Given the description of an element on the screen output the (x, y) to click on. 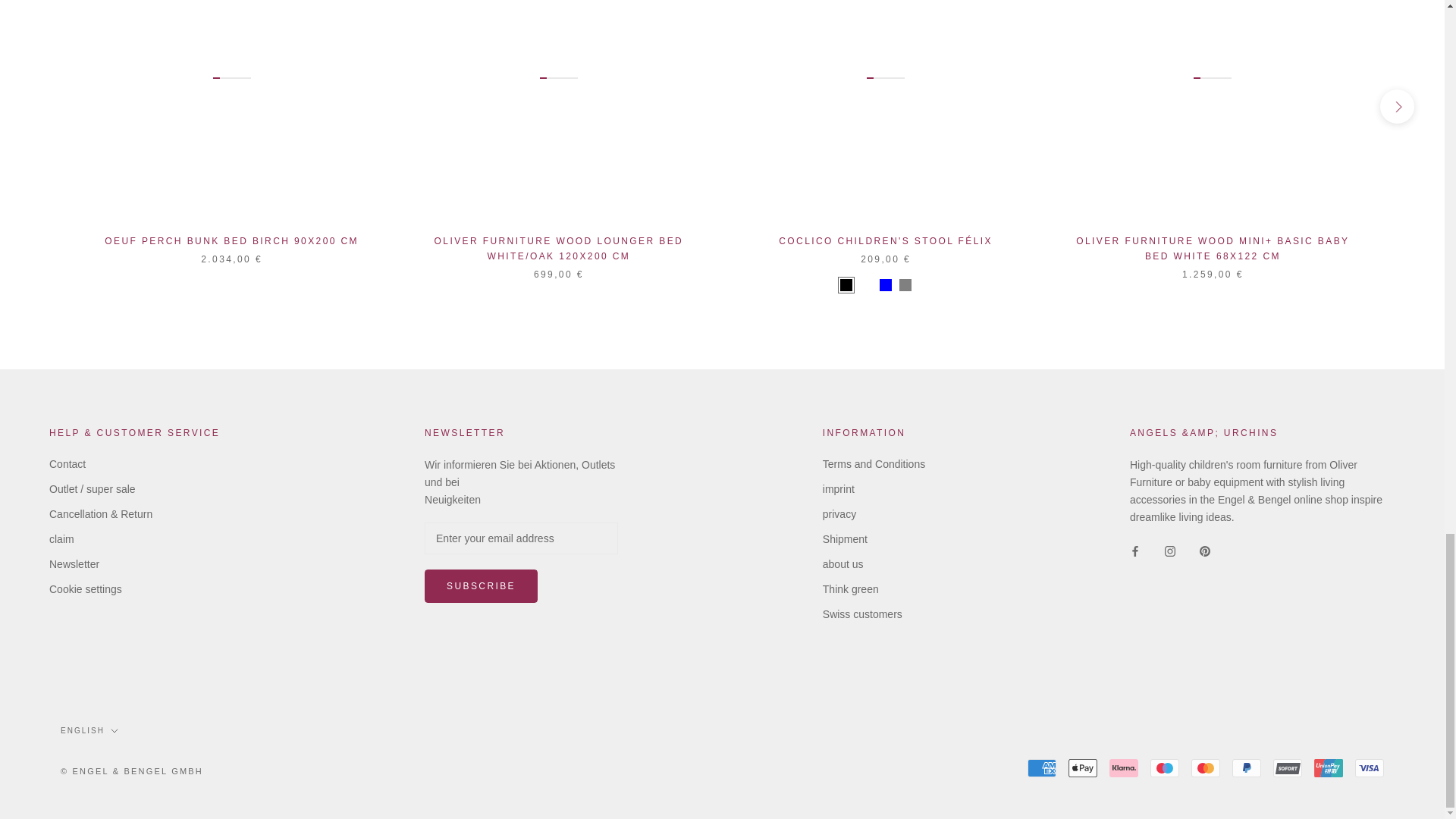
Klarna (1123, 768)
Maestro (1164, 768)
American Express (1042, 768)
Apple Pay (1082, 768)
mint green (866, 285)
Mastercard (1205, 768)
Gray (905, 285)
Black (845, 285)
Aubergine (924, 285)
Blue (885, 285)
